Given the description of an element on the screen output the (x, y) to click on. 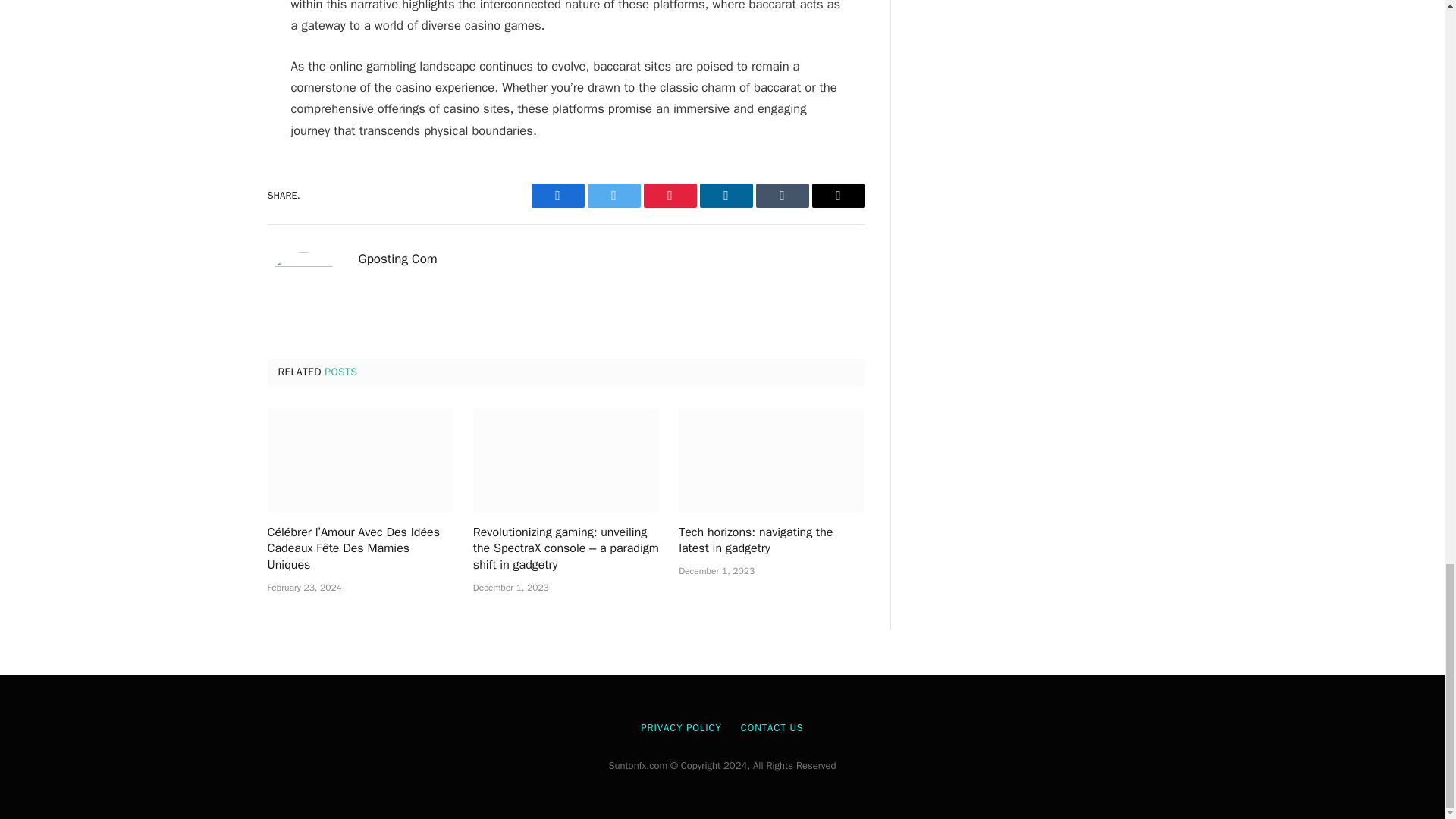
Twitter (613, 195)
Facebook (557, 195)
